Given the description of an element on the screen output the (x, y) to click on. 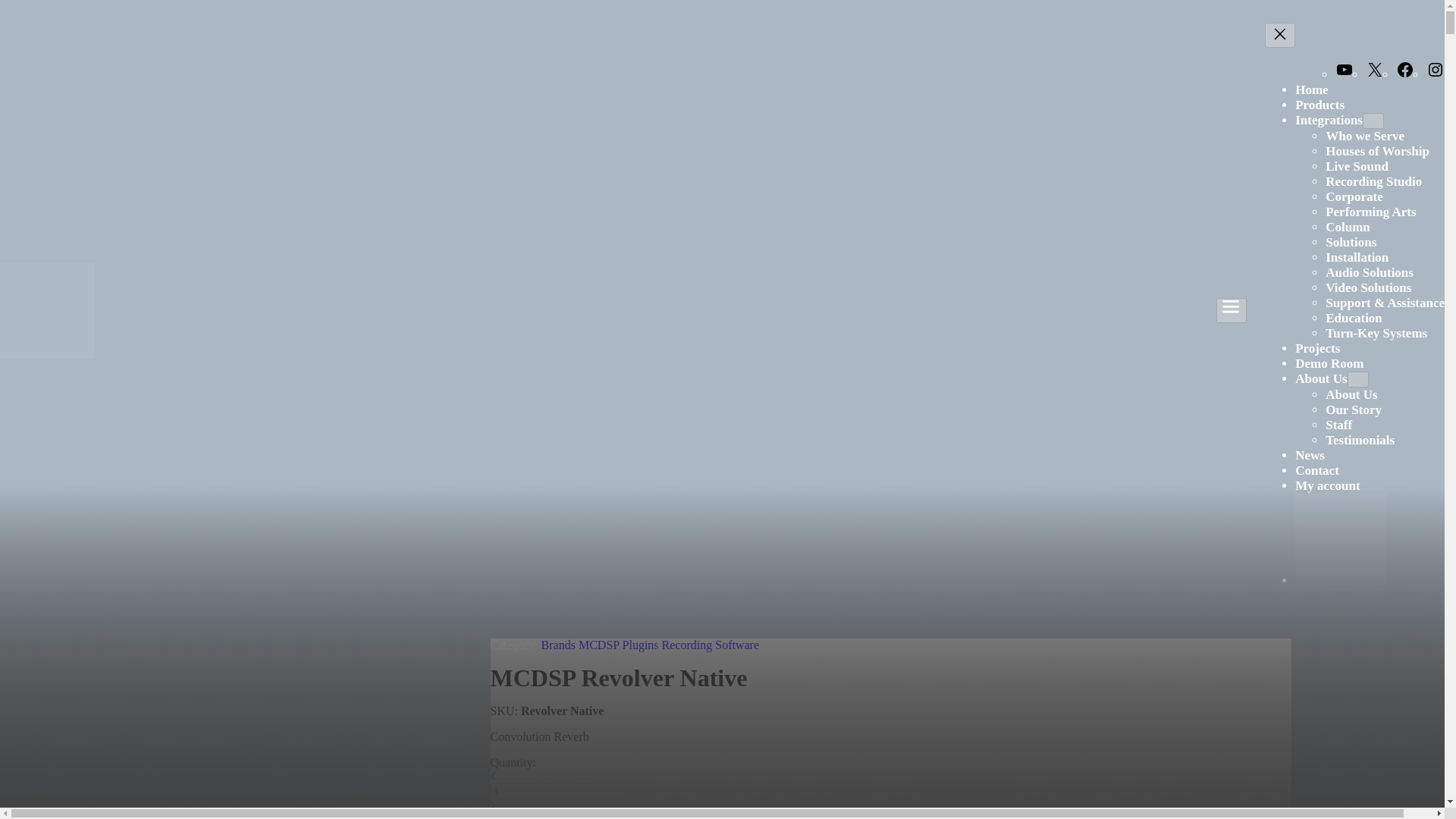
Performing Arts (1369, 211)
Testimonials (1359, 440)
X (1374, 74)
Our Story (1352, 409)
Who we Serve (1364, 135)
My account (1327, 485)
About Us (1350, 394)
1 (556, 790)
Corporate (1353, 196)
Solutions (1349, 242)
